Given the description of an element on the screen output the (x, y) to click on. 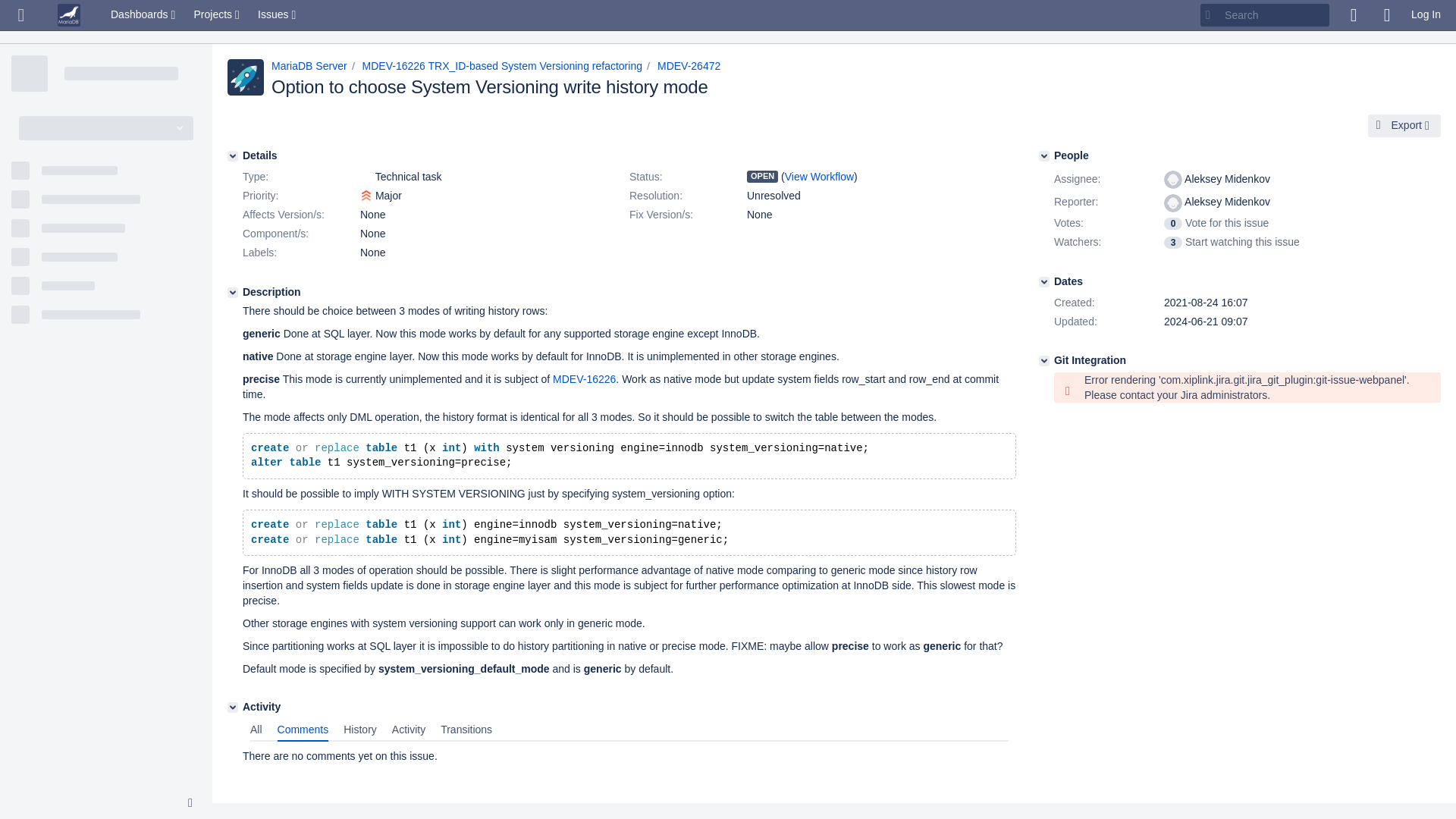
View recent projects and browse a list of projects (218, 15)
All (256, 730)
Issues (277, 15)
Give feedback to Atlassian (1353, 15)
View and manage your dashboards (144, 15)
Help (1386, 15)
Projects (218, 15)
Dashboards (144, 15)
View Workflow (818, 176)
MDEV-26472 (689, 65)
